Given the description of an element on the screen output the (x, y) to click on. 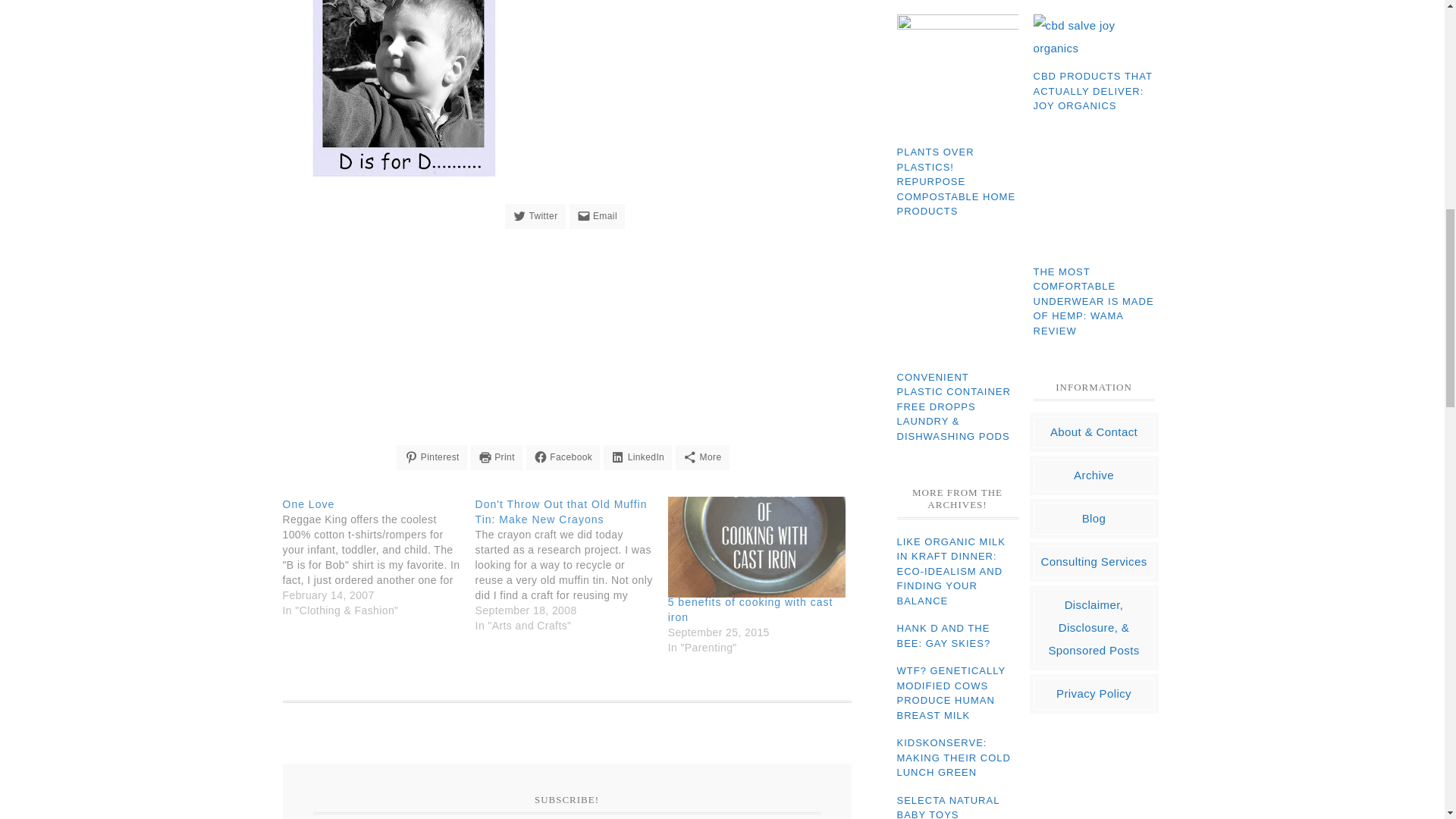
Twitter (535, 215)
Click to print (496, 456)
Click to email this to a friend (596, 215)
Don't Throw Out that Old Muffin Tin: Make New Crayons (561, 510)
LinkedIn (637, 456)
Pinterest (430, 456)
Click to share on Facebook (562, 456)
More (702, 456)
Click to share on Twitter (535, 215)
One Love (308, 503)
Email (596, 215)
Advertisement (566, 337)
5 benefits of cooking with cast iron (756, 546)
Print (496, 456)
One Love (378, 556)
